Given the description of an element on the screen output the (x, y) to click on. 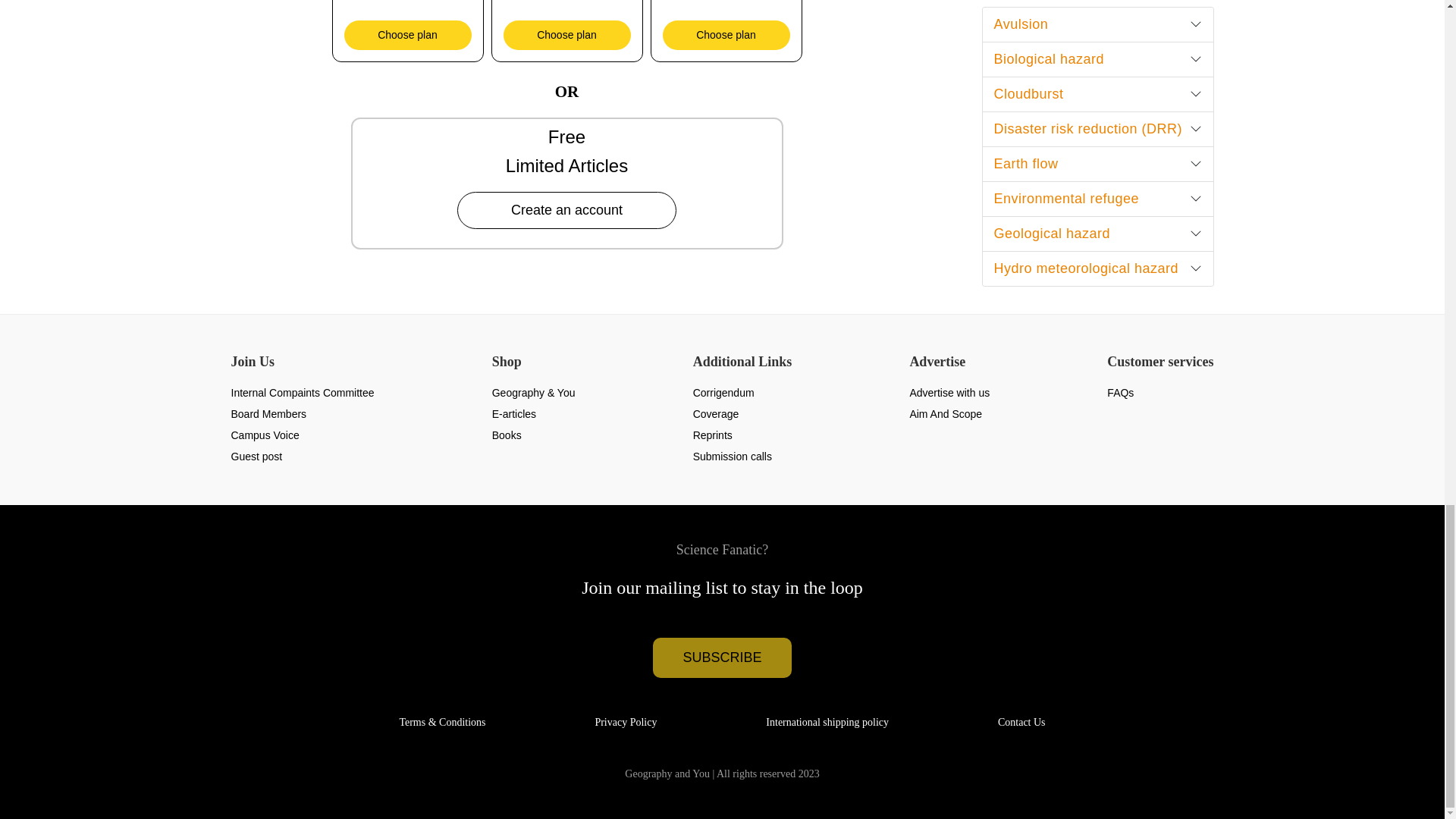
Choose plan (407, 34)
